Given the description of an element on the screen output the (x, y) to click on. 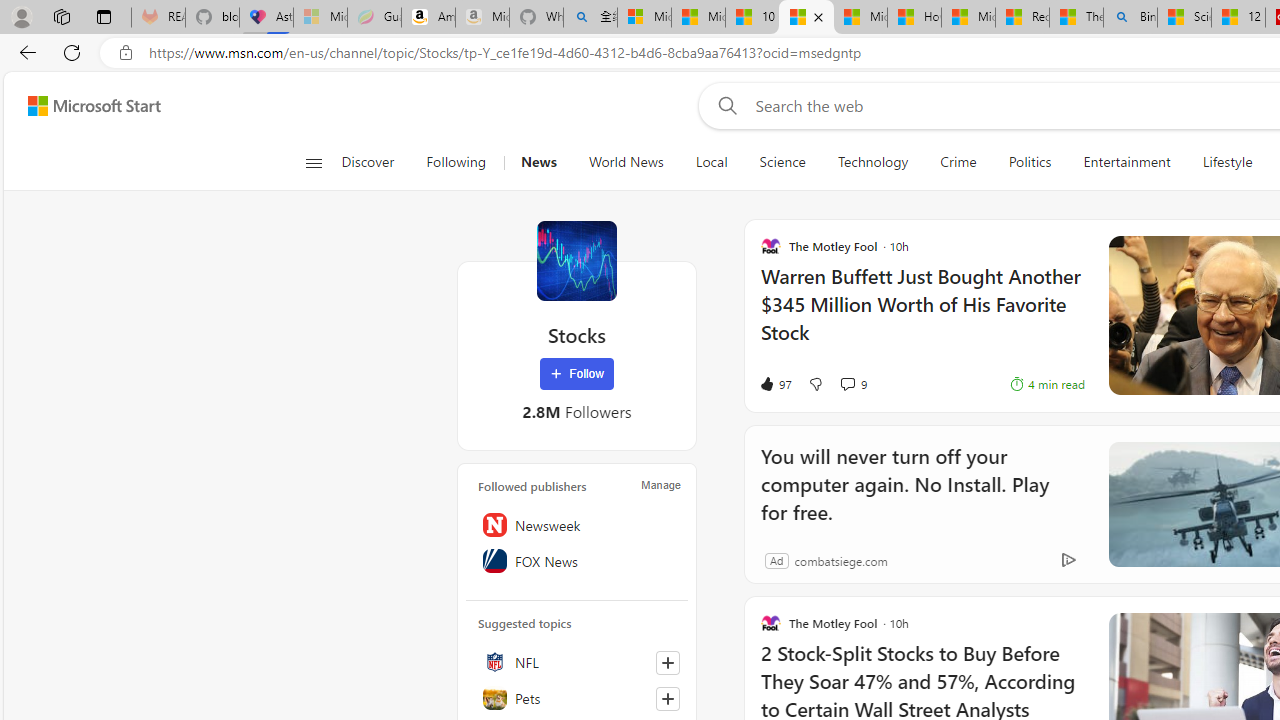
Skip to content (86, 105)
Follow (577, 373)
View comments 9 Comment (852, 384)
Ad Choice (1068, 560)
Technology (872, 162)
Web search (724, 105)
Politics (1030, 162)
Stocks - MSN (806, 17)
Entertainment (1126, 162)
Entertainment (1126, 162)
